Given the description of an element on the screen output the (x, y) to click on. 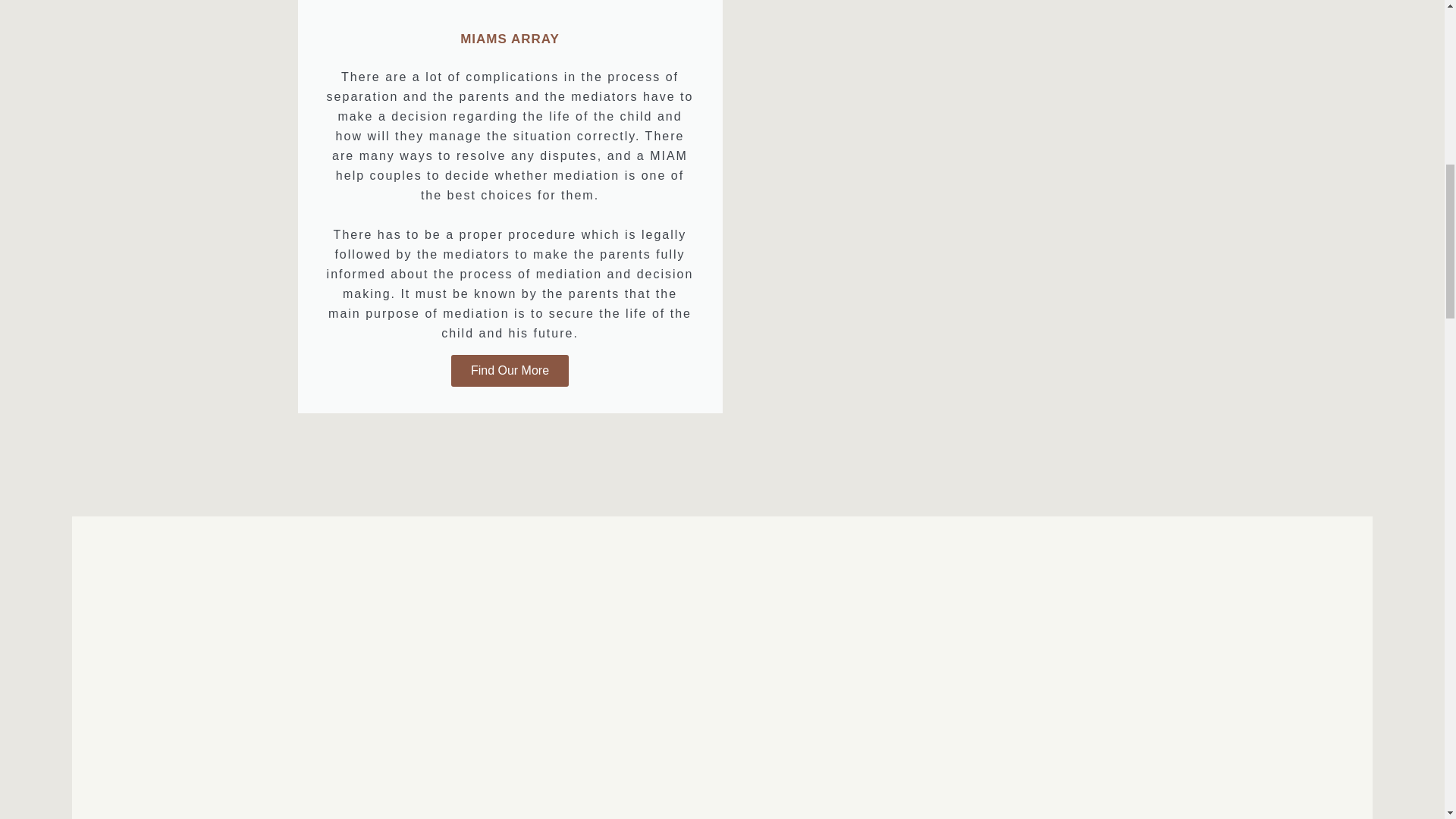
MIAMS 2 (721, 701)
